Given the description of an element on the screen output the (x, y) to click on. 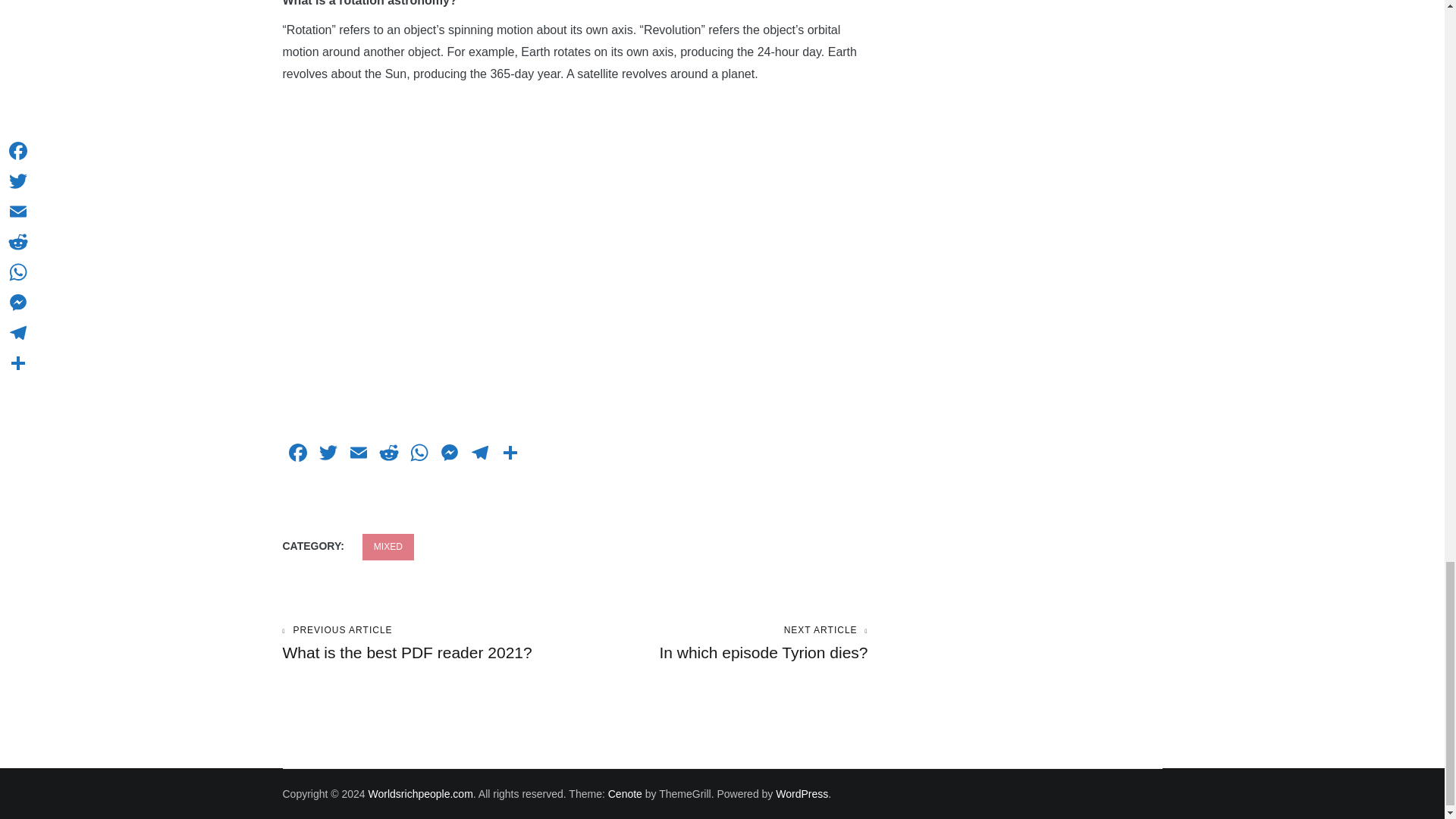
MIXED (387, 546)
Facebook (297, 454)
WhatsApp (418, 454)
Messenger (448, 454)
Email (357, 454)
Reddit (387, 454)
Telegram (479, 454)
Facebook (297, 454)
Email (357, 454)
Twitter (327, 454)
